Given the description of an element on the screen output the (x, y) to click on. 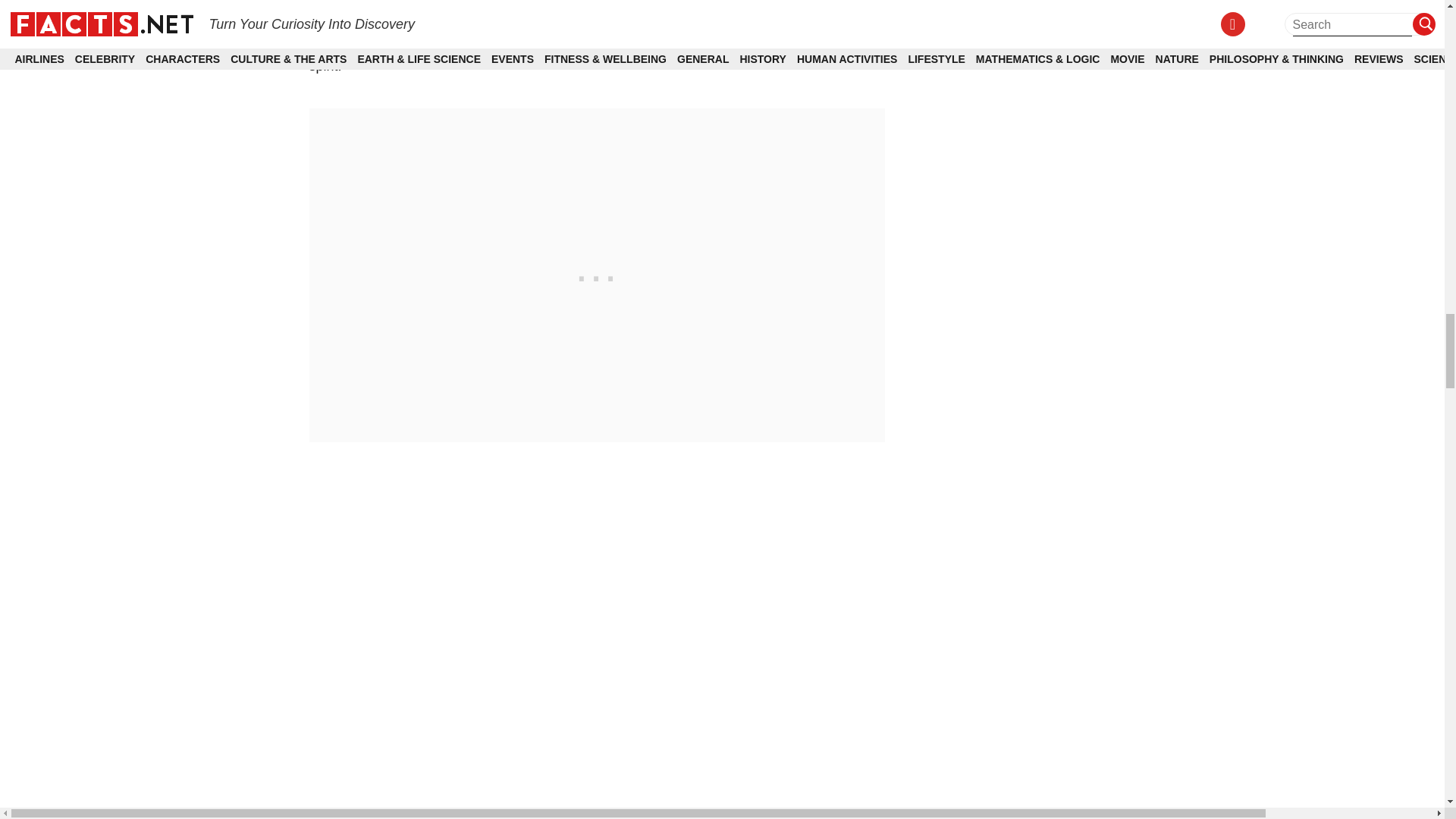
Mouse (829, 17)
